Given the description of an element on the screen output the (x, y) to click on. 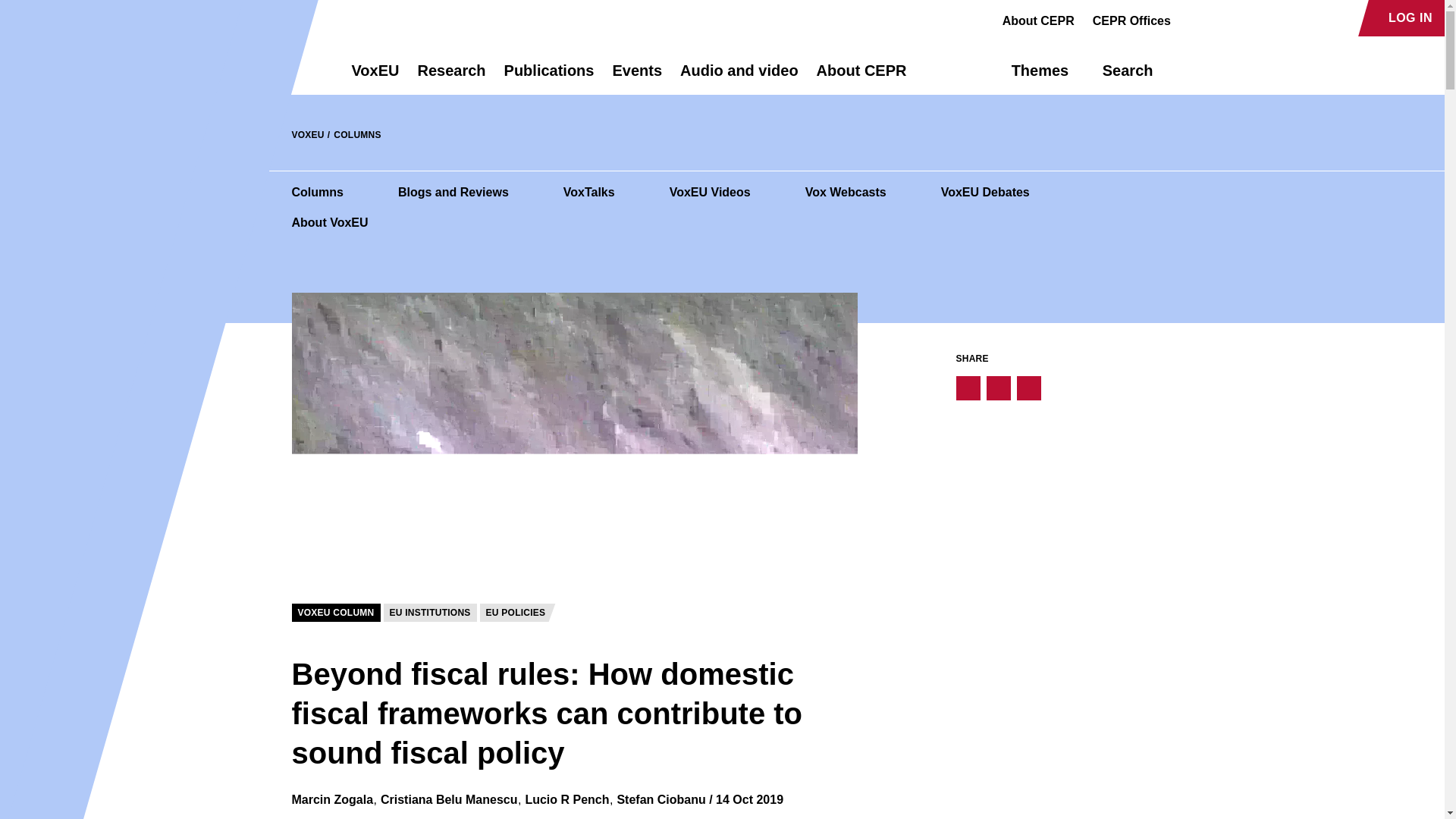
Events (636, 77)
Publications (548, 77)
Audio and video (738, 77)
Go to Linkedin profile (1243, 18)
Return to the homepage (293, 69)
Go to Audioboom profile (1217, 17)
VoxEU (375, 77)
Go to Facebook profile (1190, 17)
Research (450, 77)
